Given the description of an element on the screen output the (x, y) to click on. 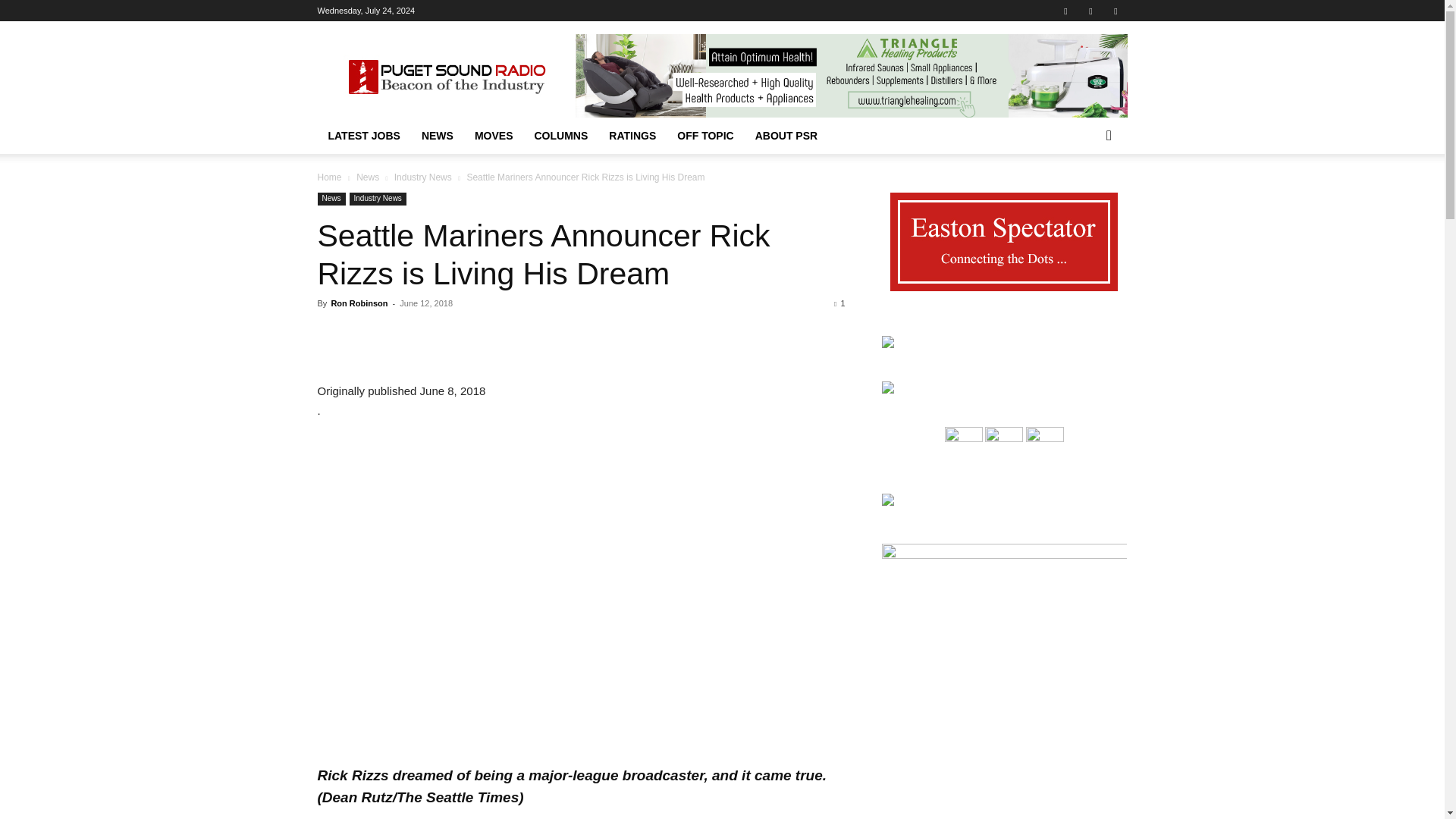
Twitter (1114, 10)
View all posts in News (367, 176)
Facebook (1065, 10)
View all posts in Industry News (422, 176)
RSS (1090, 10)
